Given the description of an element on the screen output the (x, y) to click on. 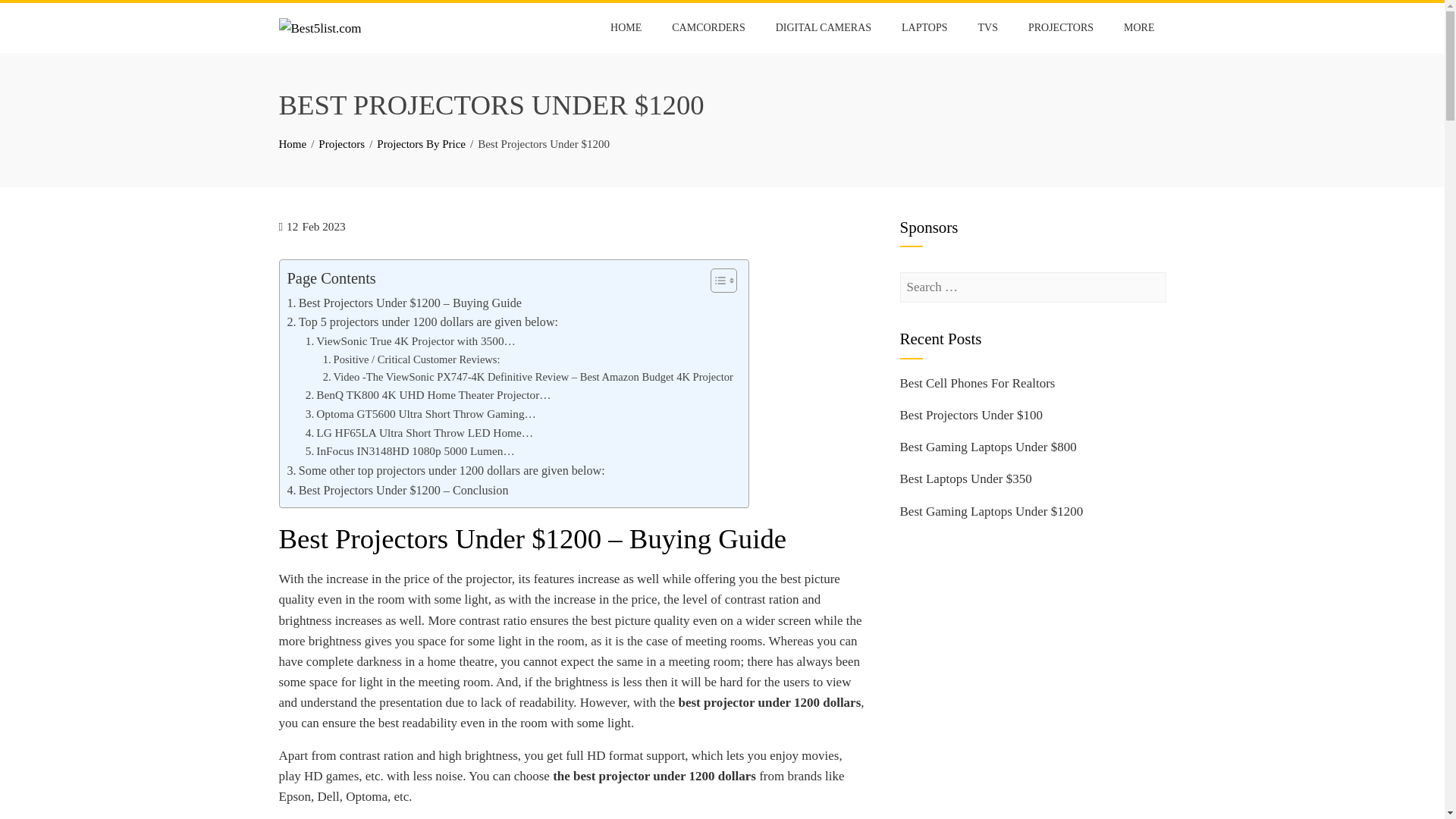
Projectors By Price (421, 143)
HOME (625, 27)
LAPTOPS (923, 27)
Top 5 projectors under 1200 dollars are given below: (421, 322)
Projectors (341, 143)
PROJECTORS (1060, 27)
Home (293, 143)
Top 5 projectors under 1200 dollars are given below: (421, 322)
TVS (987, 27)
DIGITAL CAMERAS (823, 27)
CAMCORDERS (708, 27)
MORE (1139, 27)
